Given the description of an element on the screen output the (x, y) to click on. 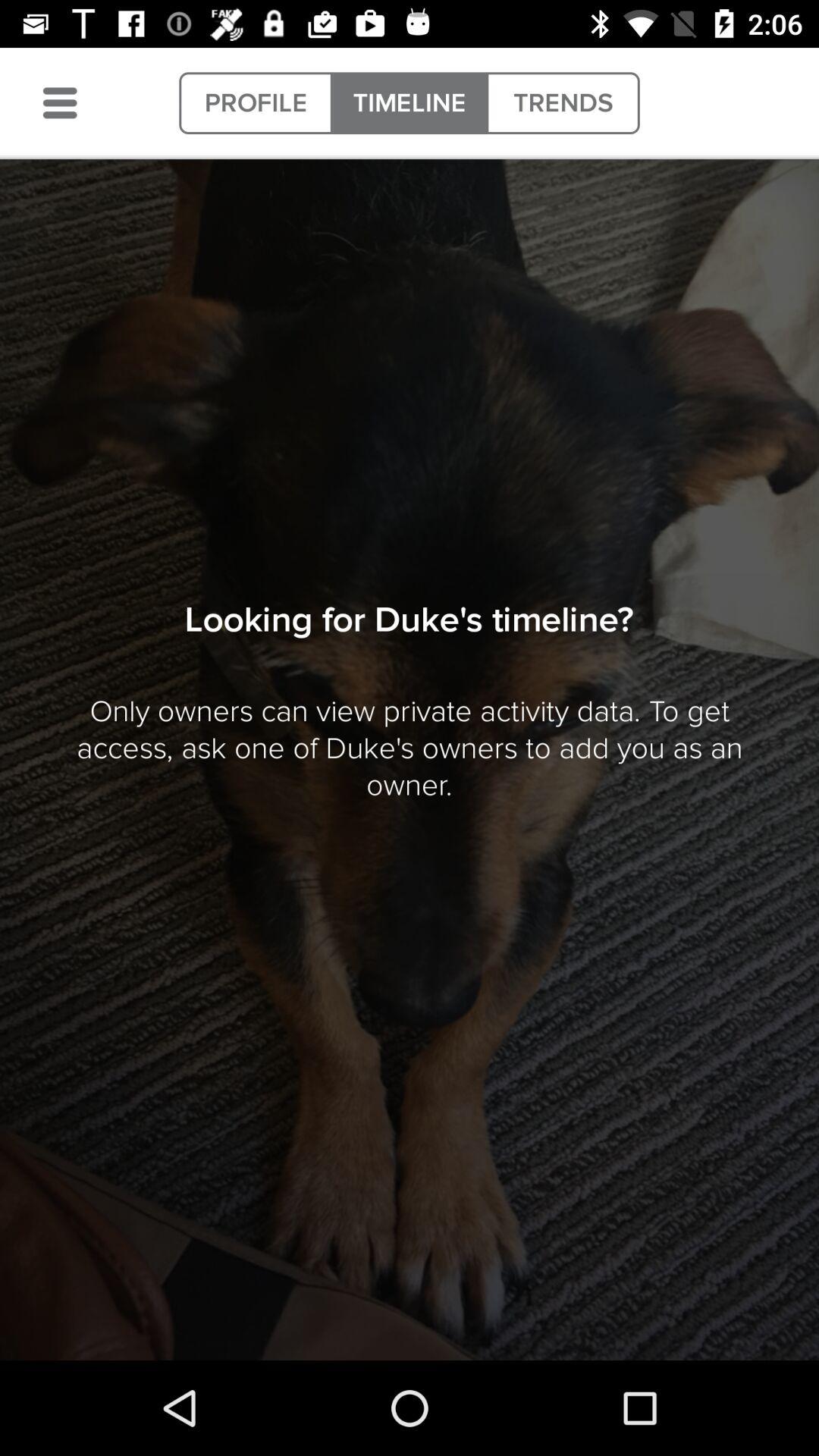
tap item to the left of the timeline item (255, 103)
